Given the description of an element on the screen output the (x, y) to click on. 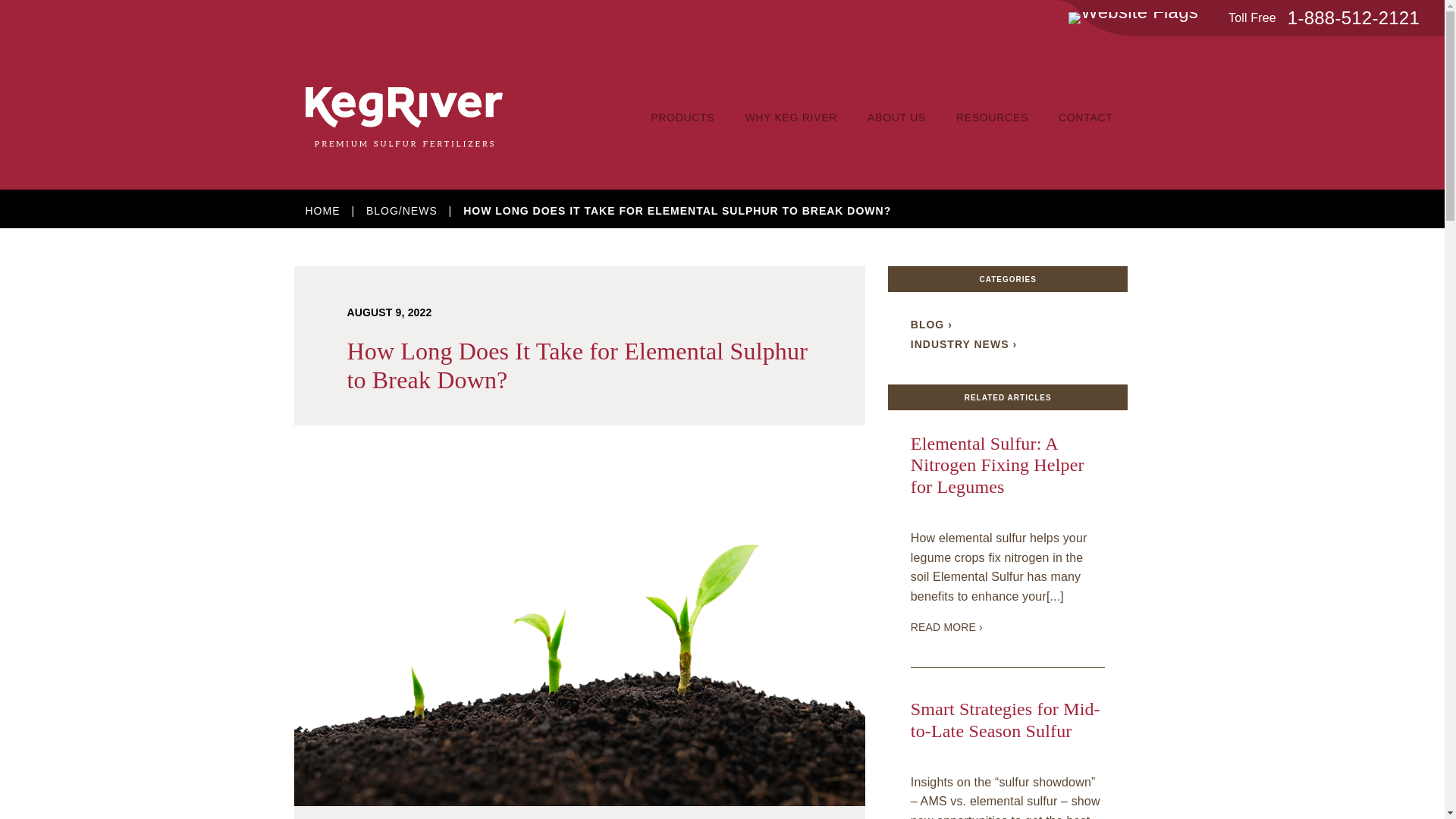
BLOG (931, 324)
INDUSTRY NEWS (963, 344)
1-888-512-2121 (1353, 18)
RESOURCES (991, 117)
WHY KEG RIVER (790, 117)
PRODUCTS (681, 117)
ABOUT US (895, 117)
HOME (321, 210)
CONTACT (1085, 117)
